Given the description of an element on the screen output the (x, y) to click on. 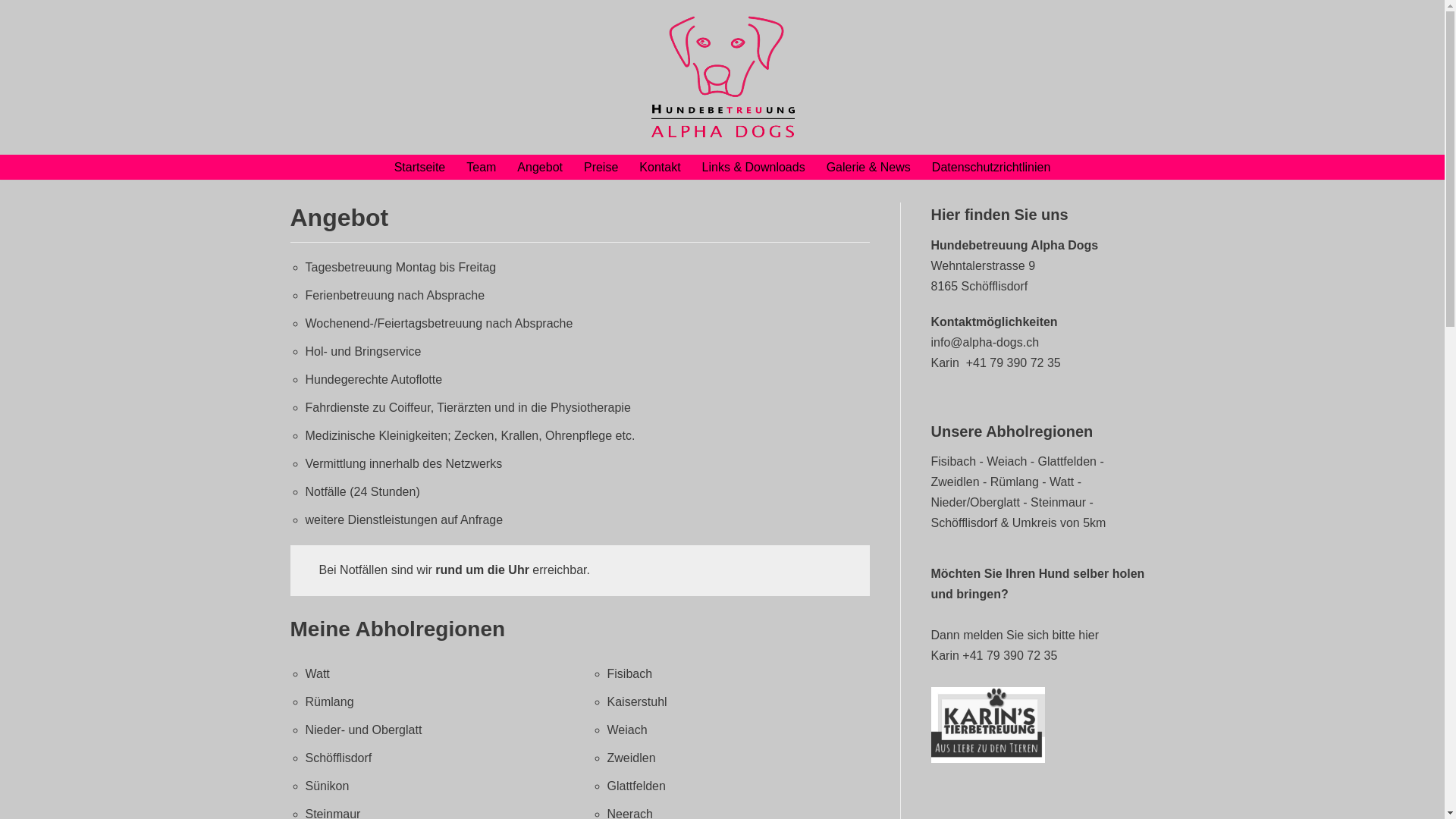
Preise Element type: text (600, 166)
Angebot Element type: text (539, 166)
Hundebetreuung Alpha Dogs Element type: hover (721, 77)
Team Element type: text (480, 166)
Startseite Element type: text (419, 166)
Datenschutzrichtlinien Element type: text (991, 166)
Galerie & News Element type: text (868, 166)
Kontakt Element type: text (659, 166)
Zum Inhalt Element type: text (15, 7)
Links & Downloads Element type: text (753, 166)
